Given the description of an element on the screen output the (x, y) to click on. 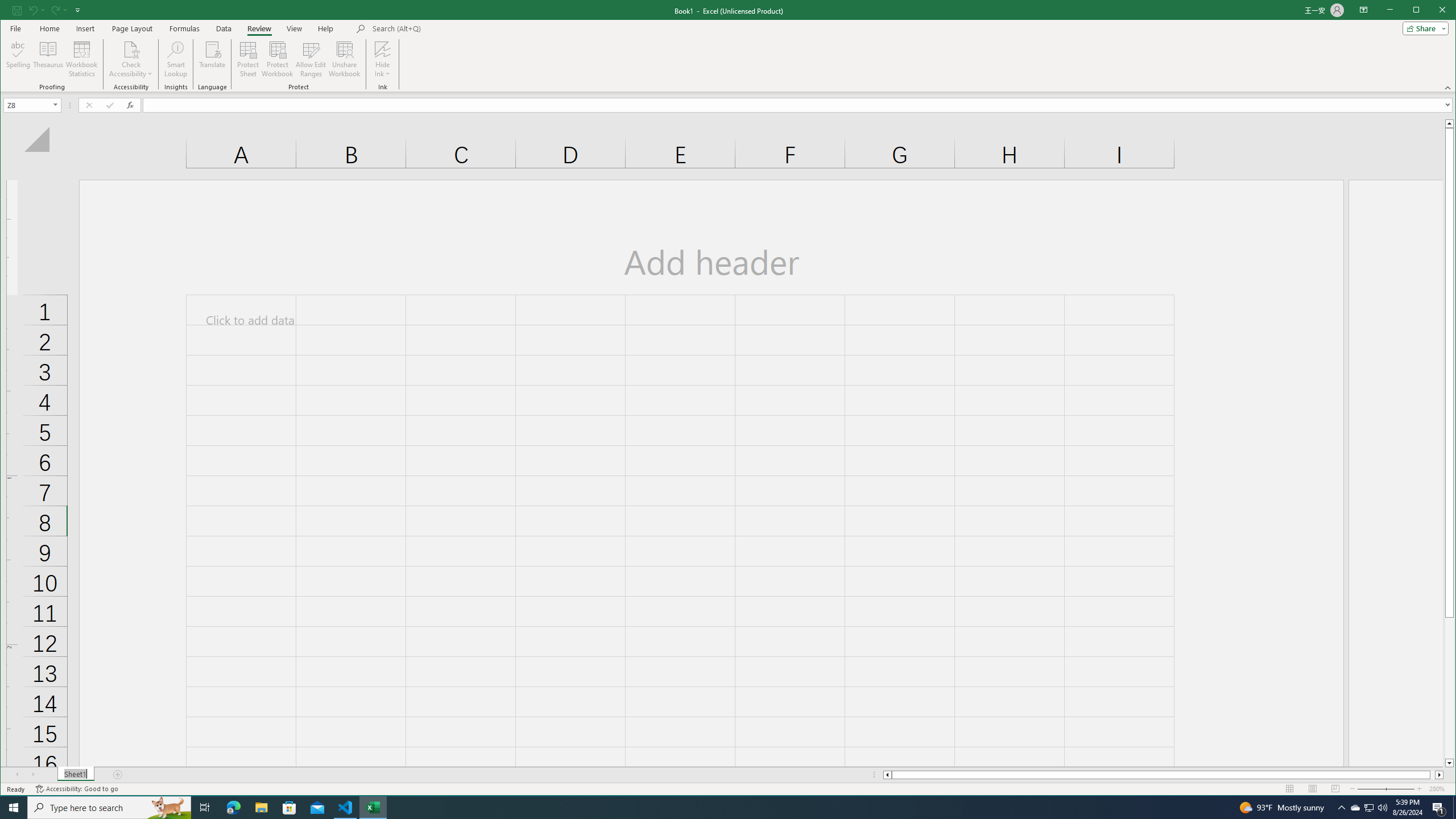
Zoom (1384, 788)
Home (49, 28)
Formulas (184, 28)
Type here to search (108, 807)
Protect Sheet... (247, 59)
Microsoft Edge (233, 807)
Page Break Preview (1334, 788)
Save (16, 9)
Protect Workbook... (277, 59)
Q2790: 100% (1382, 807)
Accessibility Checker Accessibility: Good to go (76, 788)
Column right (1439, 774)
File Tab (15, 27)
Running applications (717, 807)
